Given the description of an element on the screen output the (x, y) to click on. 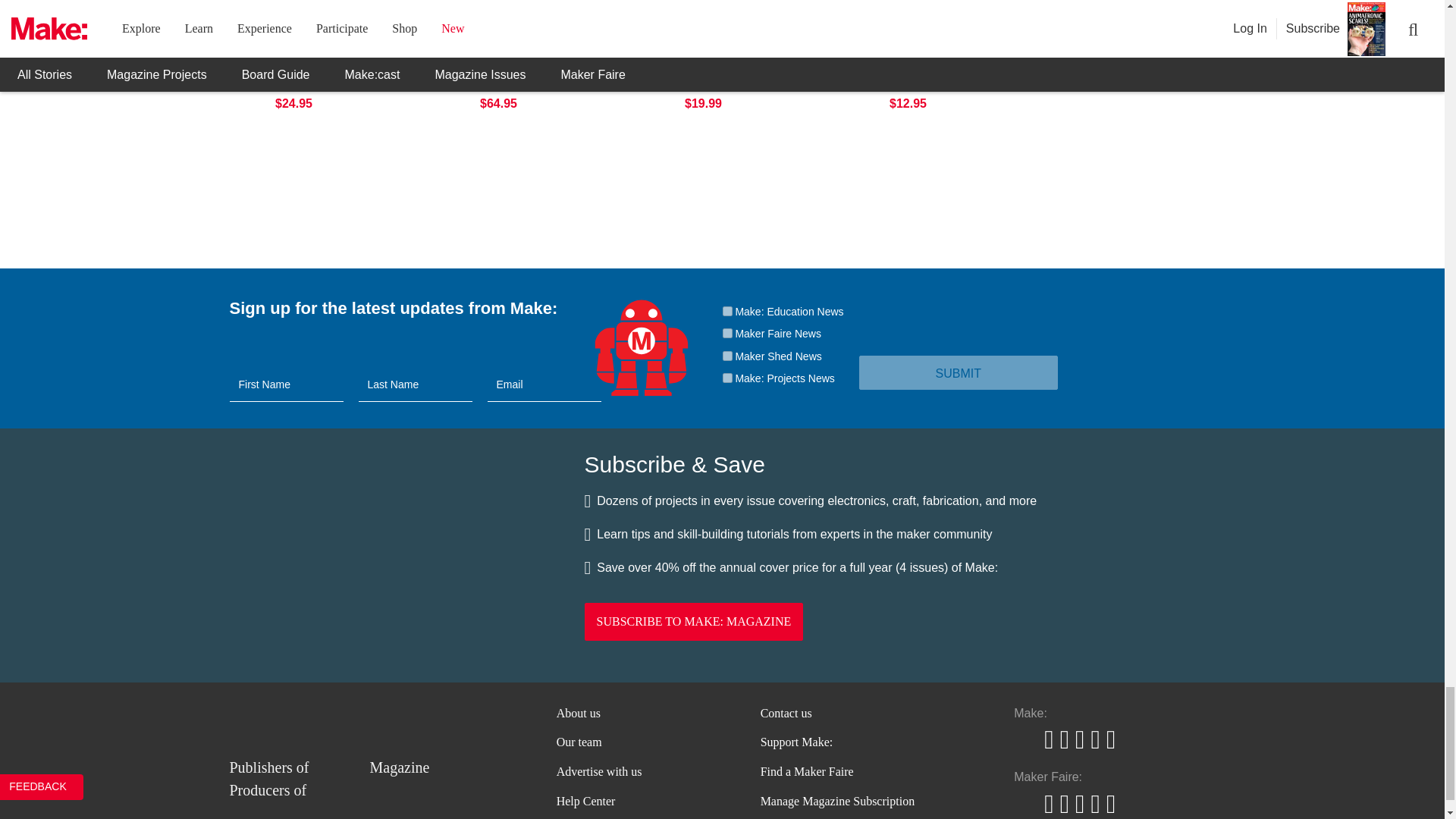
Maker Shed News (727, 356)
Make: Projects News (727, 378)
Maker Faire News (727, 333)
Make: Education News (727, 311)
